Given the description of an element on the screen output the (x, y) to click on. 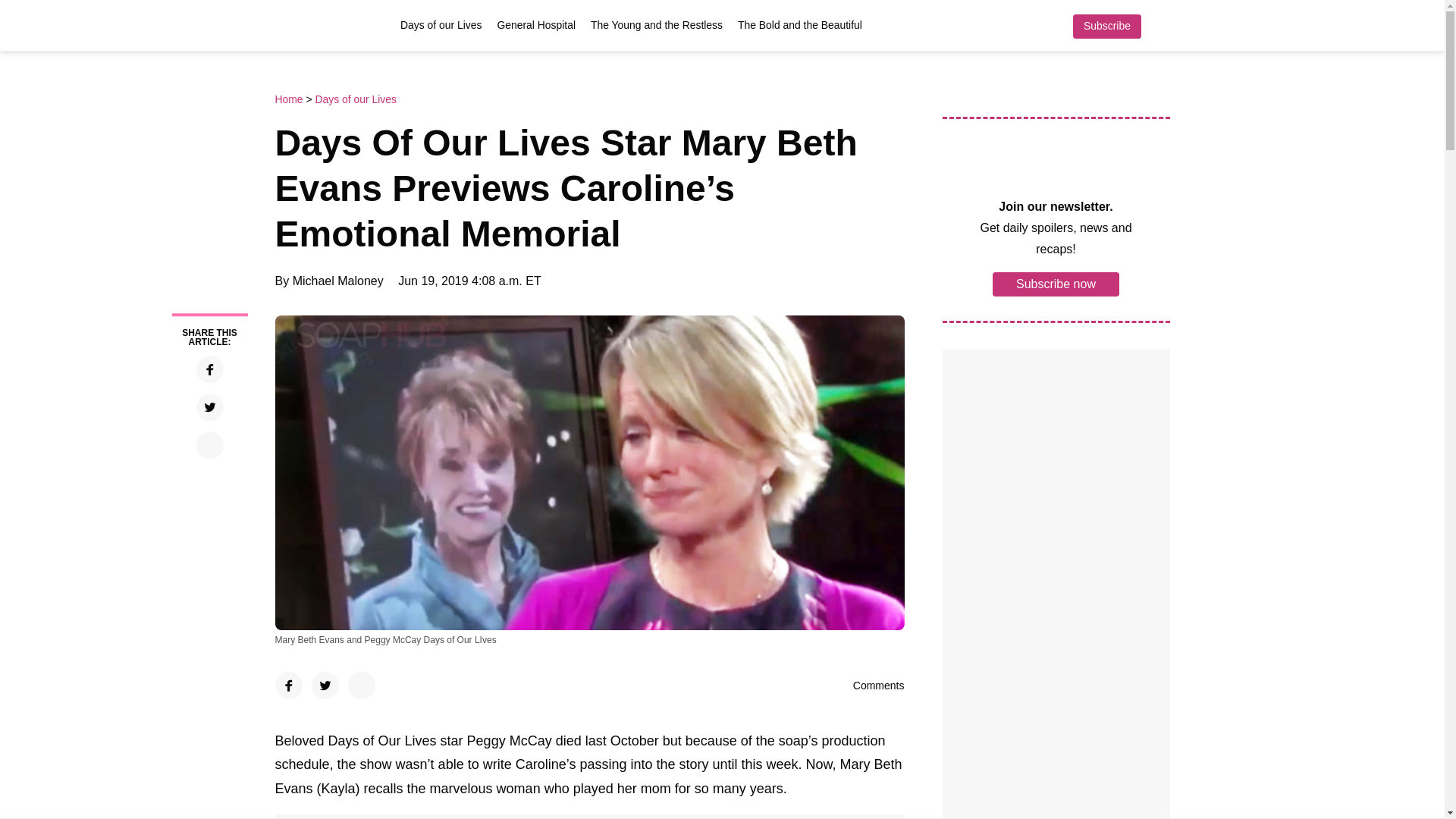
Click to share on Twitter (208, 406)
Days of our Lives (355, 99)
Click to share on Facebook (288, 685)
Michael Maloney (338, 280)
The Young and the Restless (656, 24)
The Bold and the Beautiful (799, 24)
Subscribe now (1055, 283)
Subscribe (1105, 26)
Click to share on Facebook (208, 369)
Search (1161, 26)
Click to share on Twitter (324, 685)
Days of our Lives (441, 24)
Home (290, 99)
Click to email a link to a friend (360, 685)
Click to email a link to a friend (208, 444)
